Given the description of an element on the screen output the (x, y) to click on. 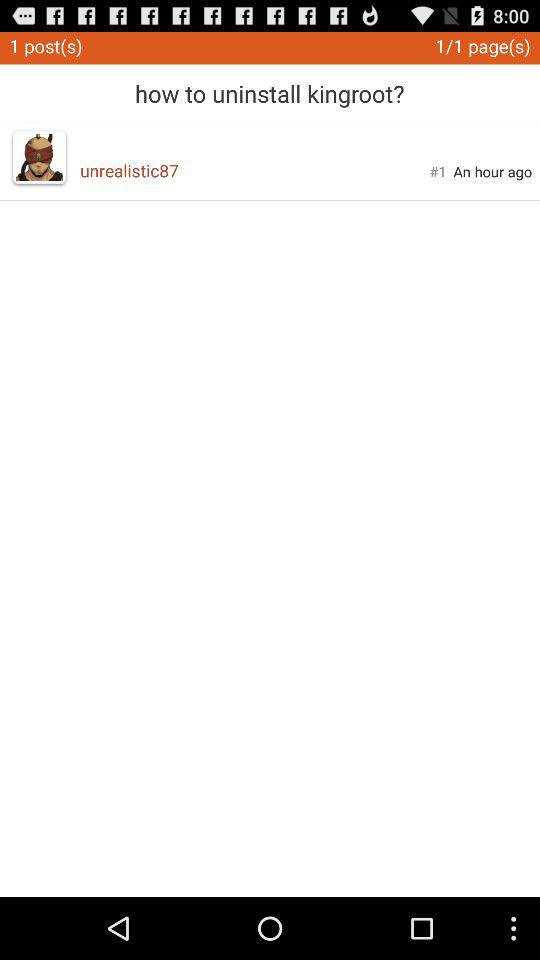
launch the icon to the right of #1 (492, 171)
